Given the description of an element on the screen output the (x, y) to click on. 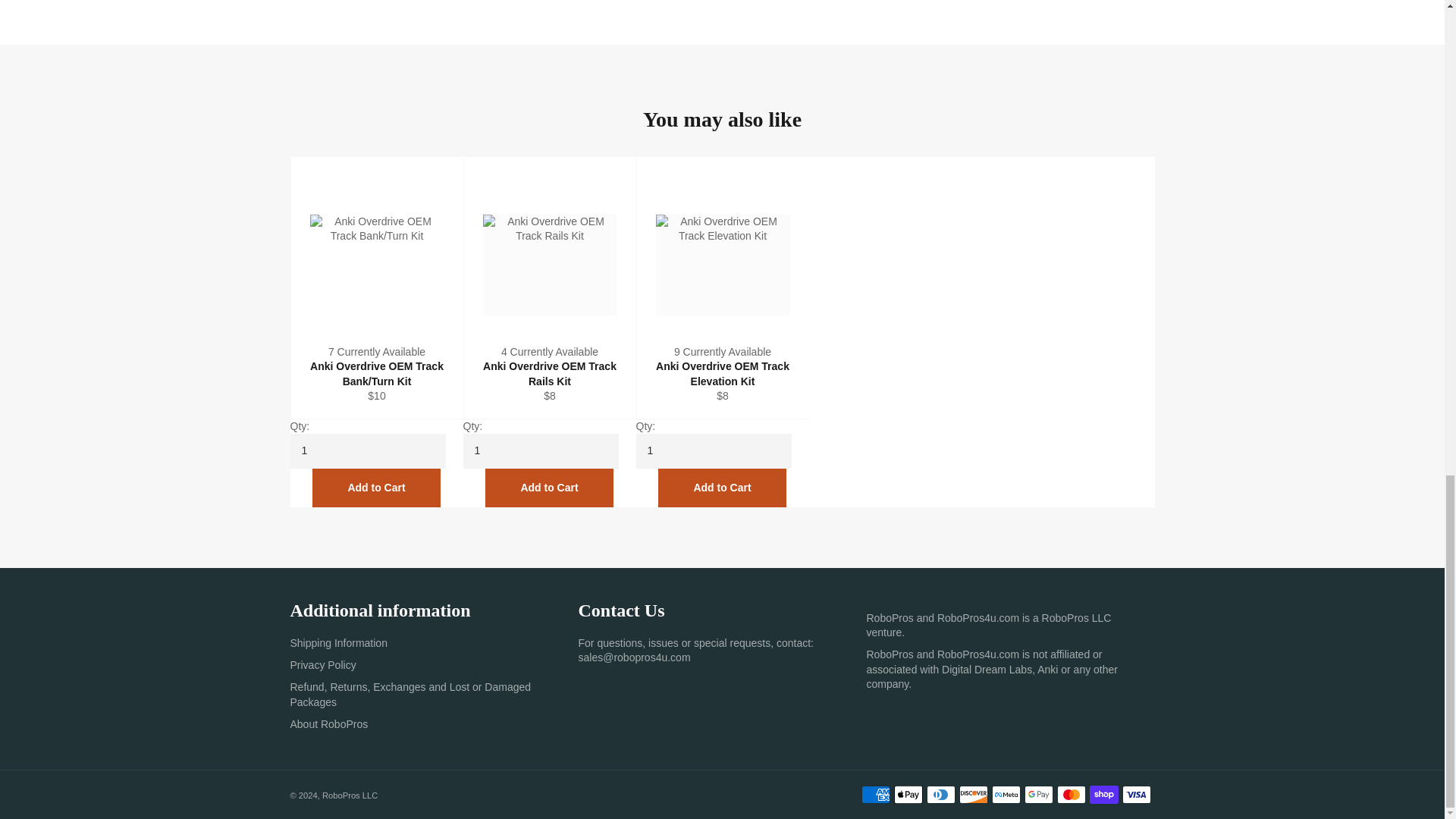
Add to Cart (376, 487)
1 (367, 450)
1 (540, 450)
Add to Cart (548, 487)
Add to Cart (722, 487)
1 (712, 450)
